Given the description of an element on the screen output the (x, y) to click on. 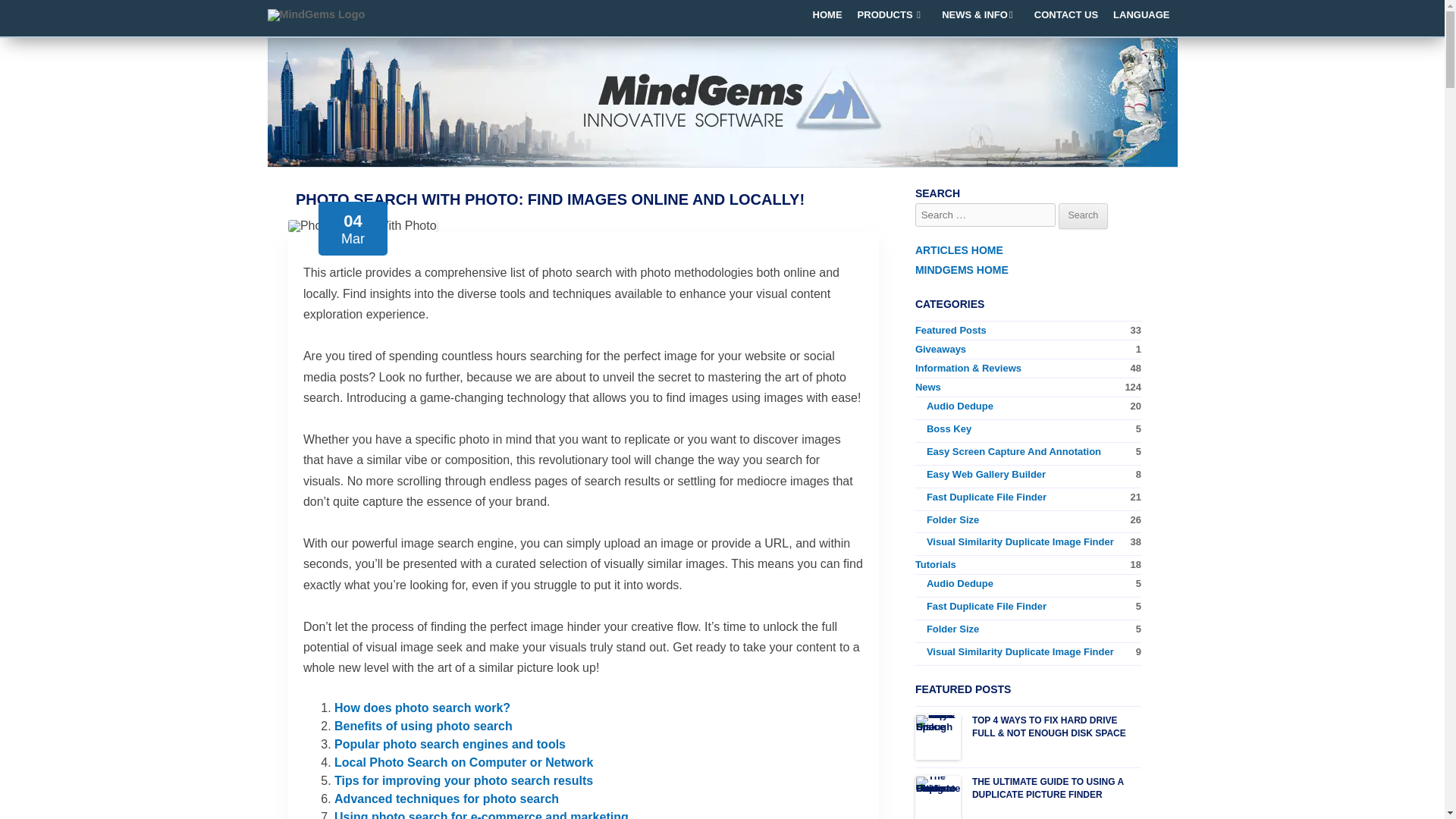
Search (1083, 216)
Search (1083, 216)
PRODUCTS (892, 15)
HOME (827, 15)
